Given the description of an element on the screen output the (x, y) to click on. 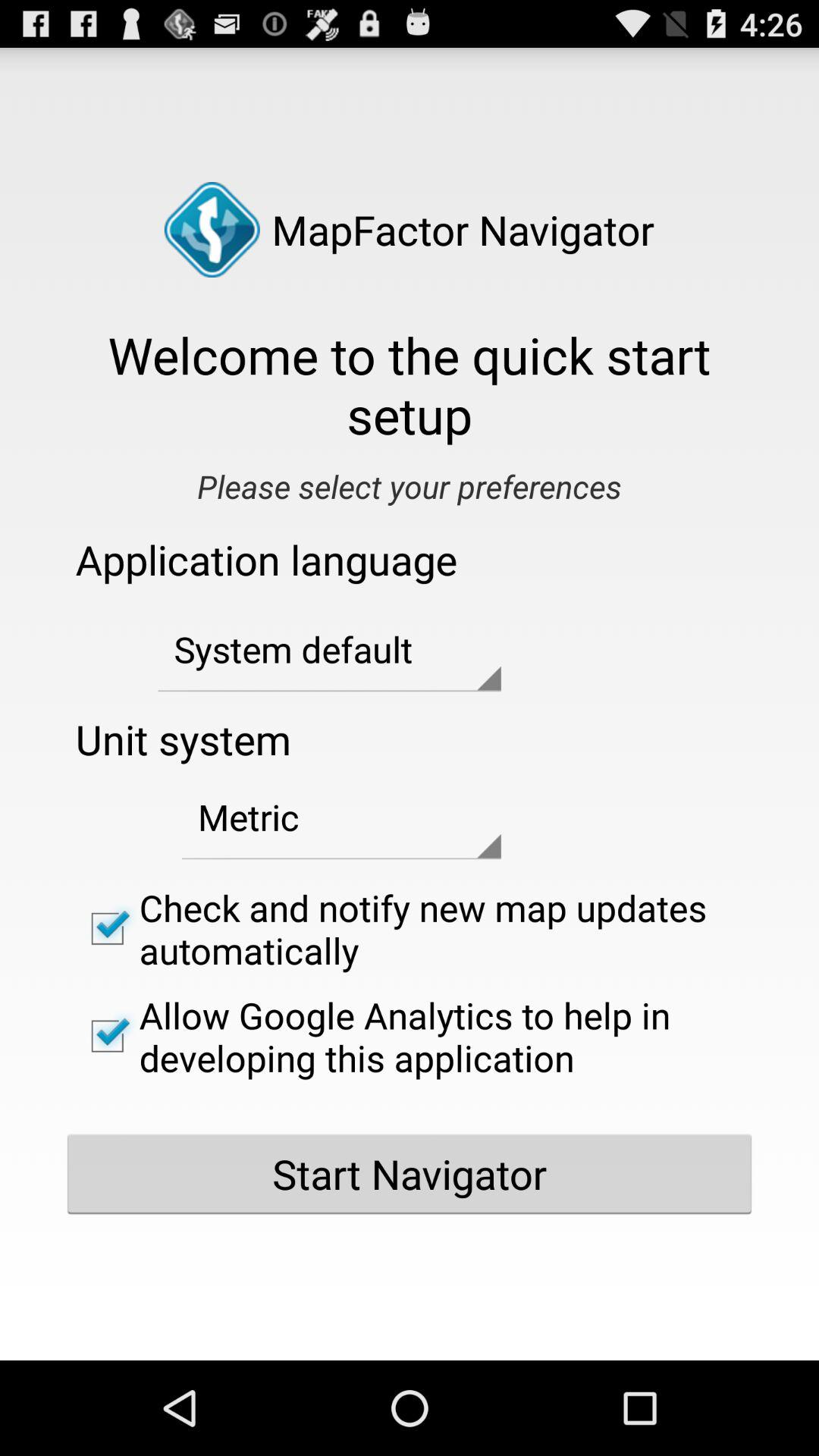
click item above the allow google analytics checkbox (409, 928)
